Given the description of an element on the screen output the (x, y) to click on. 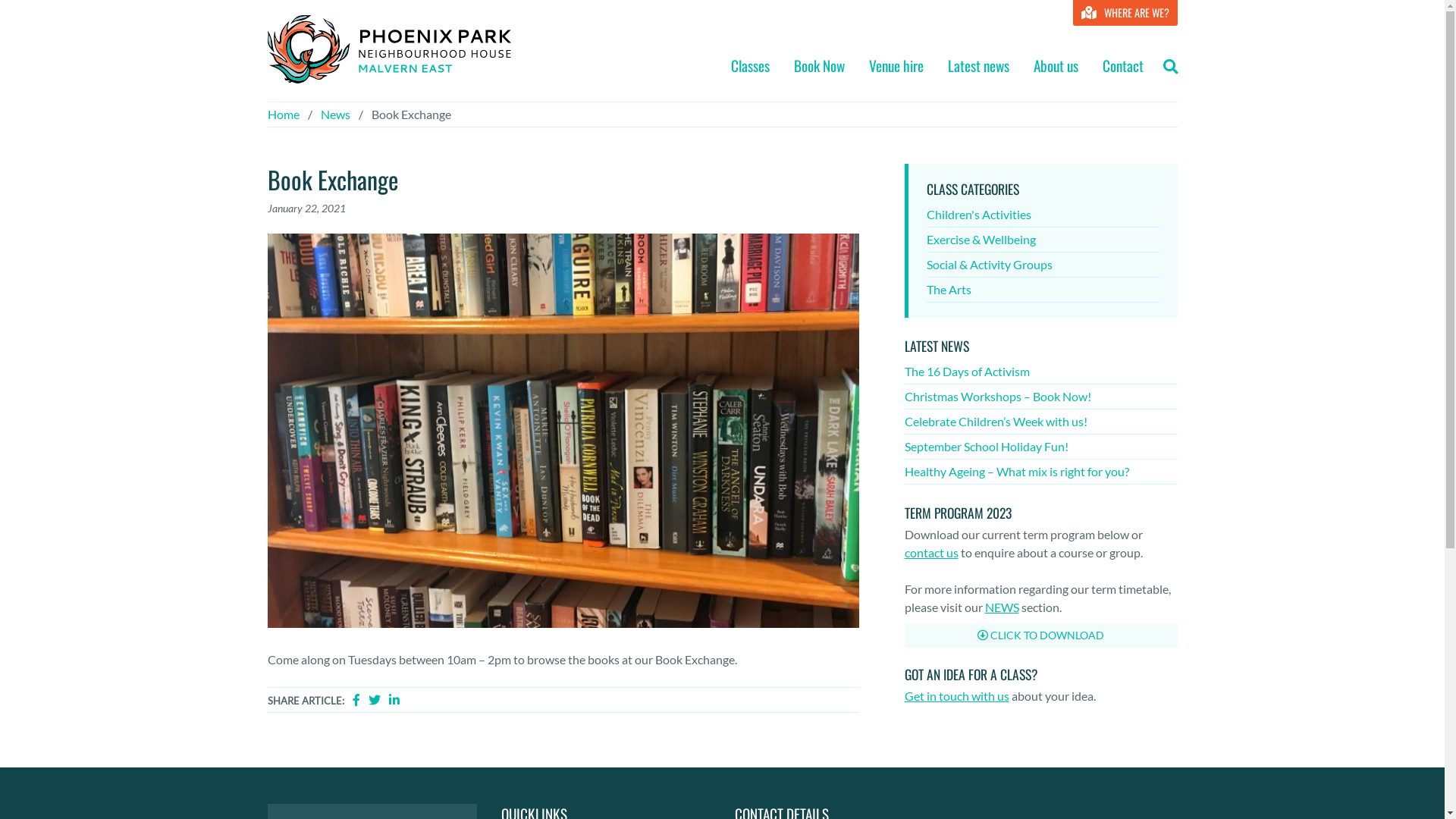
WHERE ARE WE? Element type: text (1124, 12)
Get in touch with us Element type: text (955, 695)
NEWS Element type: text (1001, 606)
Social & Activity Groups Element type: text (1042, 264)
Latest news Element type: text (978, 69)
September School Holiday Fun! Element type: text (1039, 446)
Exercise & Wellbeing Element type: text (1042, 239)
Book Now Element type: text (818, 69)
Venue hire Element type: text (896, 69)
The 16 Days of Activism Element type: text (1039, 371)
Contact Element type: text (1122, 69)
CLICK TO DOWNLOAD Element type: text (1039, 635)
contact us Element type: text (930, 552)
Phoenix Park Neighbourhood House Element type: text (388, 49)
About us Element type: text (1054, 69)
The Arts Element type: text (1042, 289)
Children's Activities Element type: text (1042, 214)
News Element type: text (334, 113)
Classes Element type: text (750, 69)
Home Element type: text (282, 113)
